Given the description of an element on the screen output the (x, y) to click on. 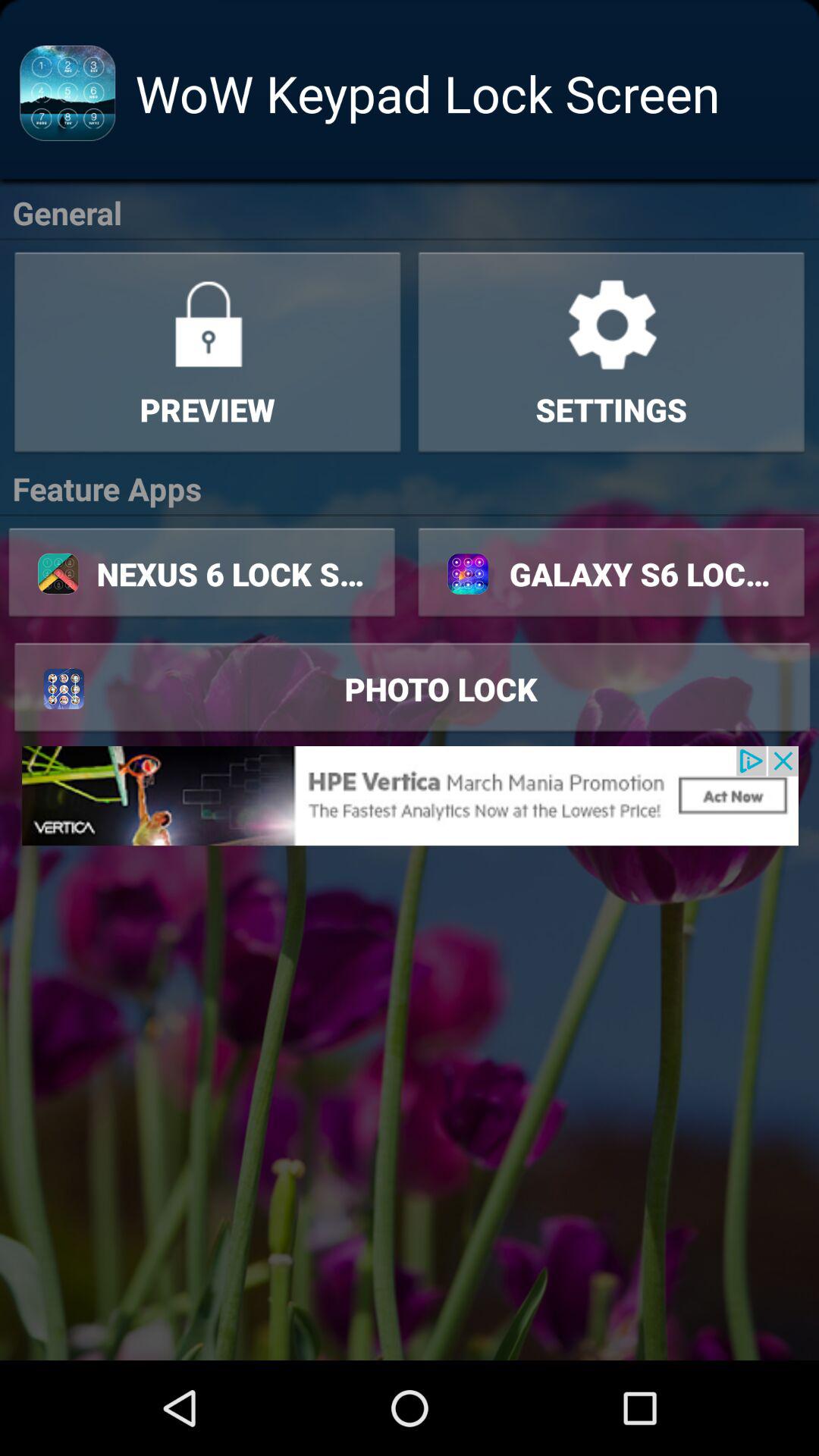
go to advertisement (409, 795)
